Given the description of an element on the screen output the (x, y) to click on. 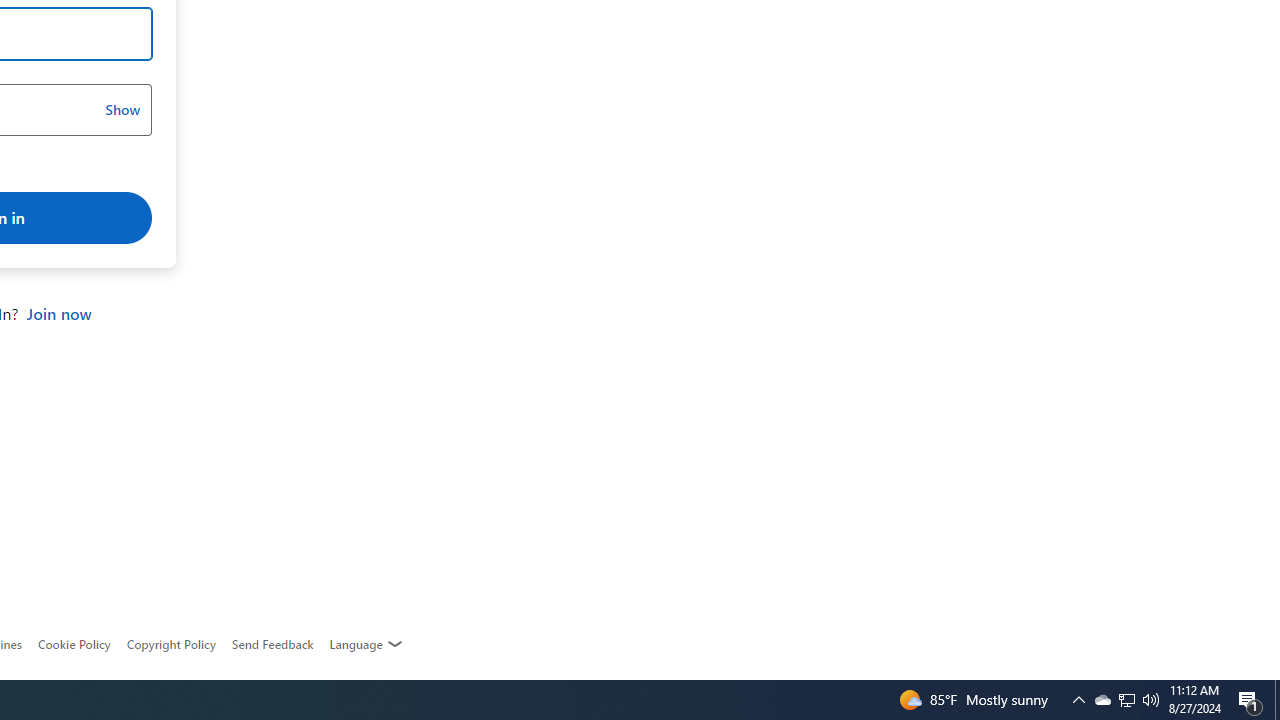
AutomationID: feedback-request (272, 643)
Join now (58, 314)
Show (122, 110)
Copyright Policy (170, 643)
Language (365, 643)
Send Feedback (271, 643)
Cookie Policy (74, 643)
